Given the description of an element on the screen output the (x, y) to click on. 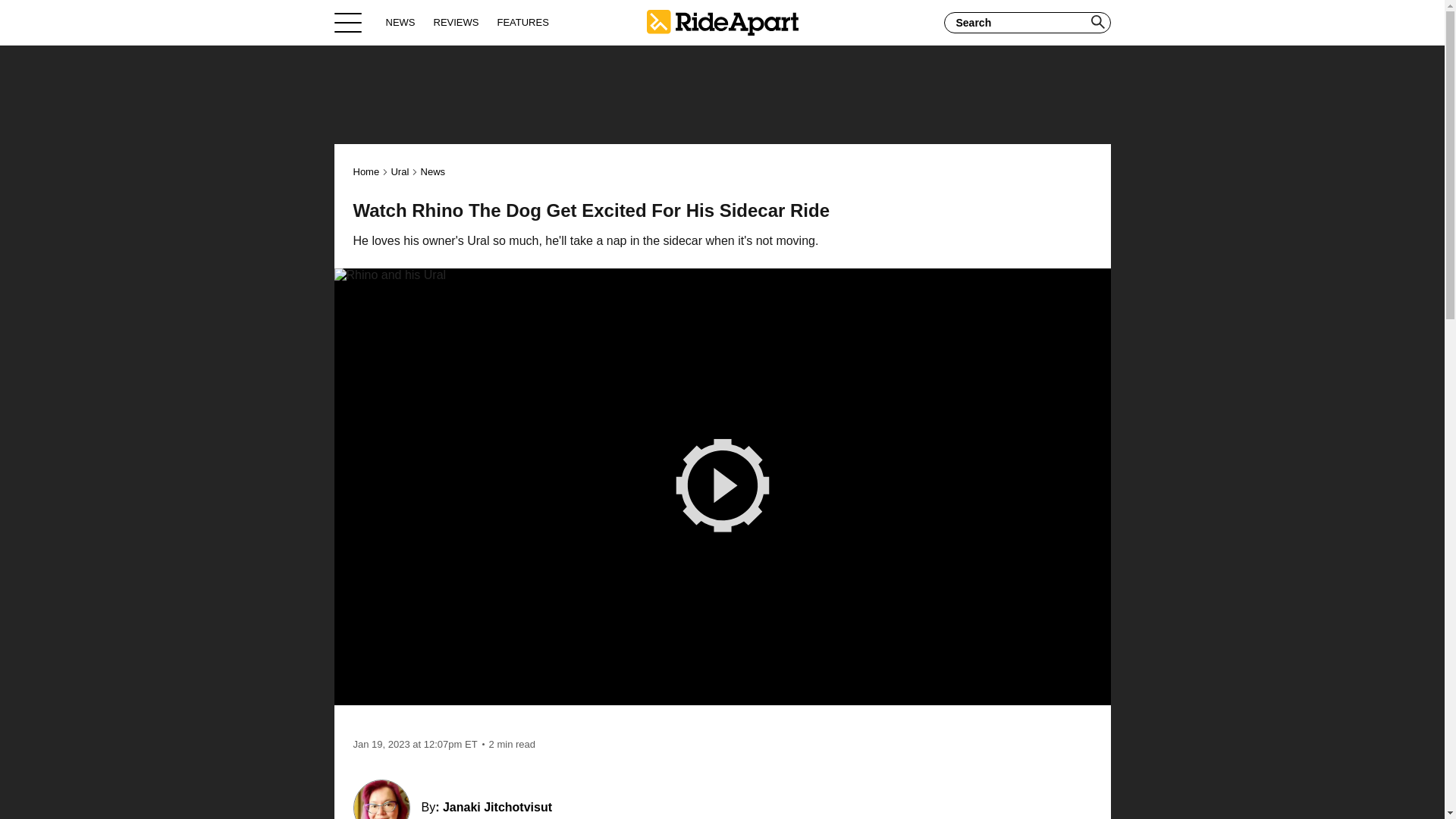
Ural (399, 171)
News (432, 171)
Home (366, 171)
REVIEWS (456, 22)
Janaki Jitchotvisut (496, 807)
FEATURES (522, 22)
NEWS (399, 22)
Home (721, 22)
